Given the description of an element on the screen output the (x, y) to click on. 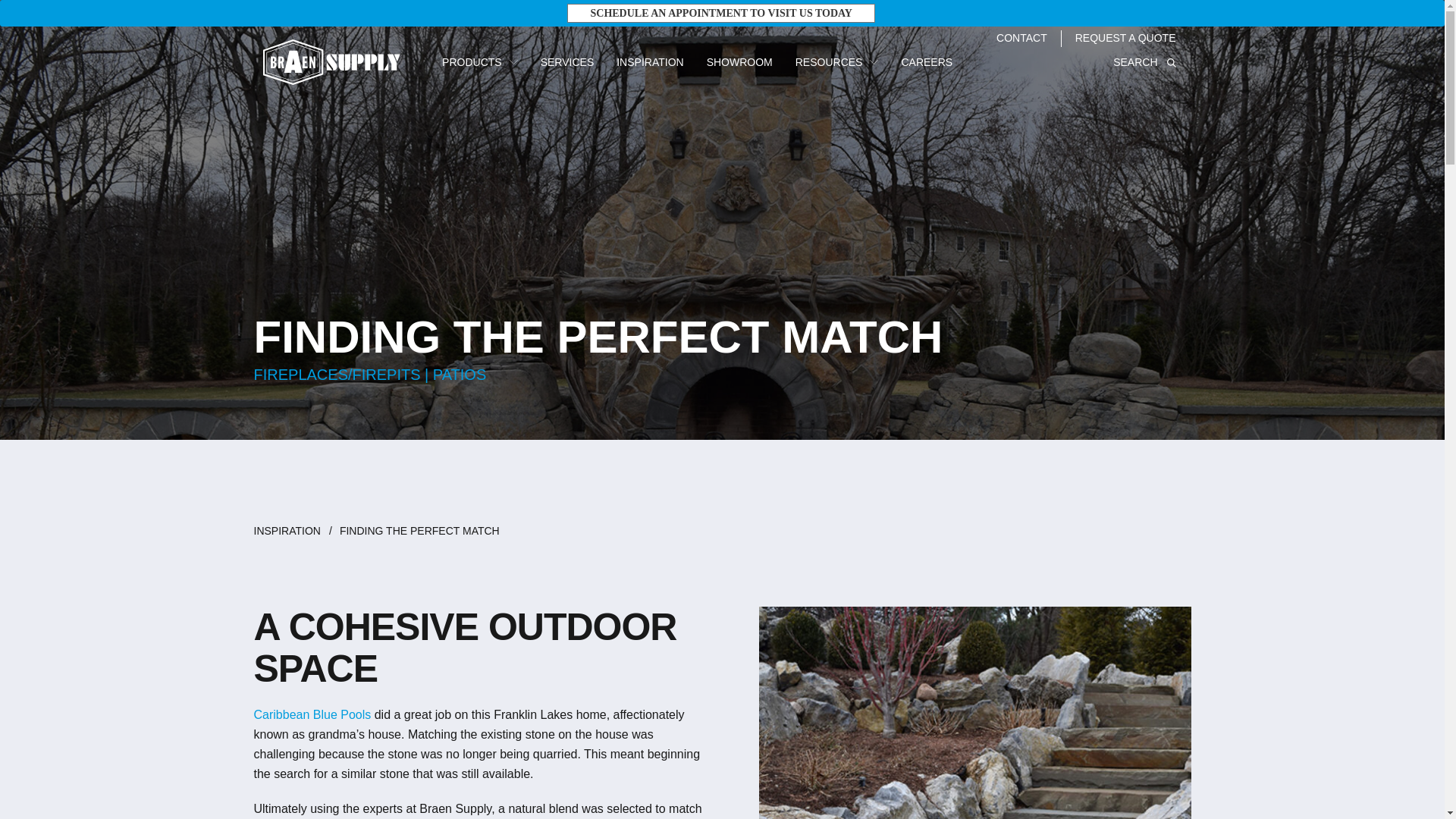
CAREERS (926, 61)
REQUEST A QUOTE (1125, 37)
SERVICES (567, 61)
SHOWROOM (739, 61)
RESOURCES (836, 61)
PRODUCTS (480, 61)
INSPIRATION (648, 61)
CONTACT (1020, 37)
inspiration (292, 530)
SEARCH (1143, 61)
